Given the description of an element on the screen output the (x, y) to click on. 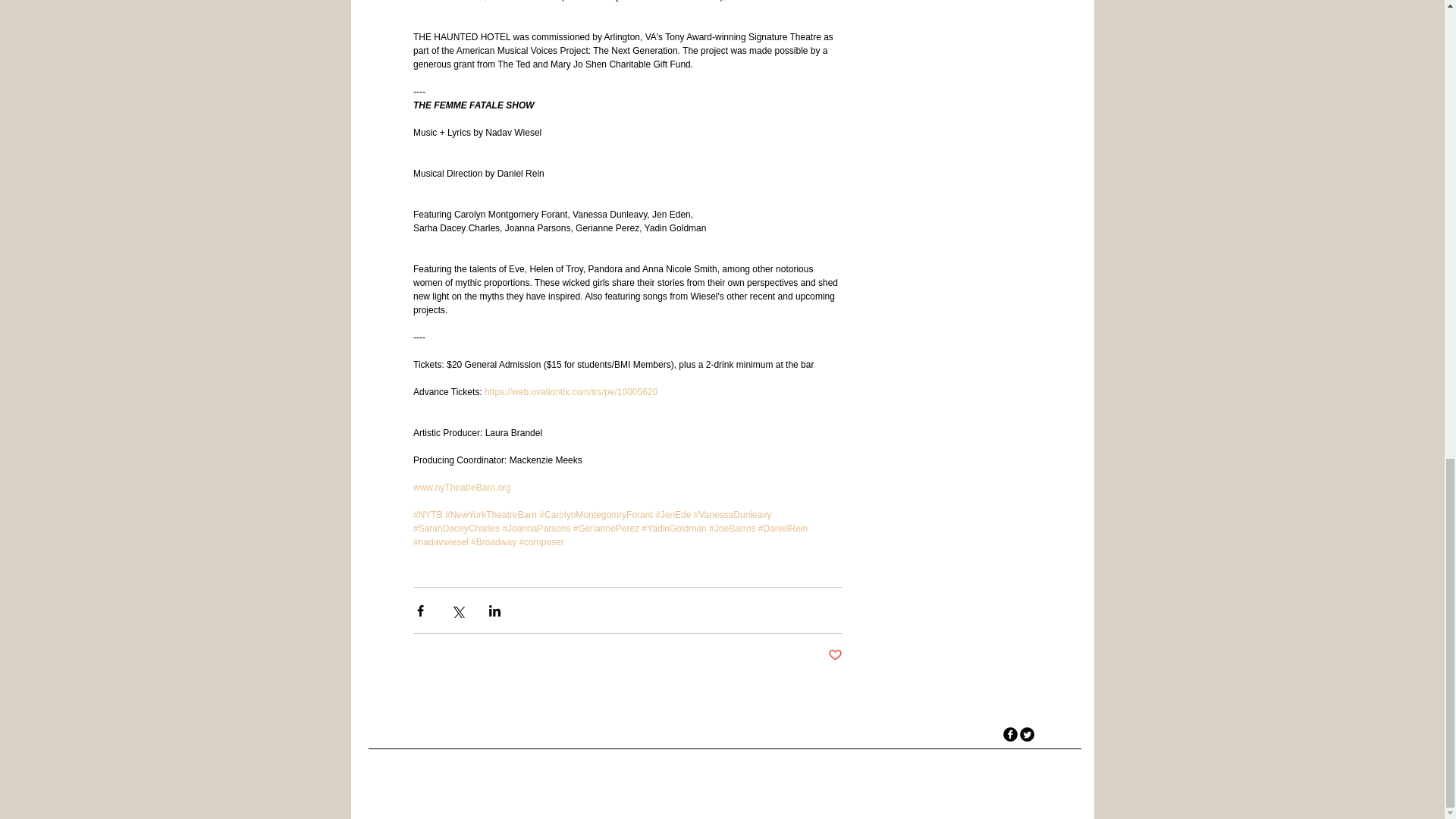
www.nyTheatreBarn.org (461, 487)
Post not marked as liked (835, 655)
